Given the description of an element on the screen output the (x, y) to click on. 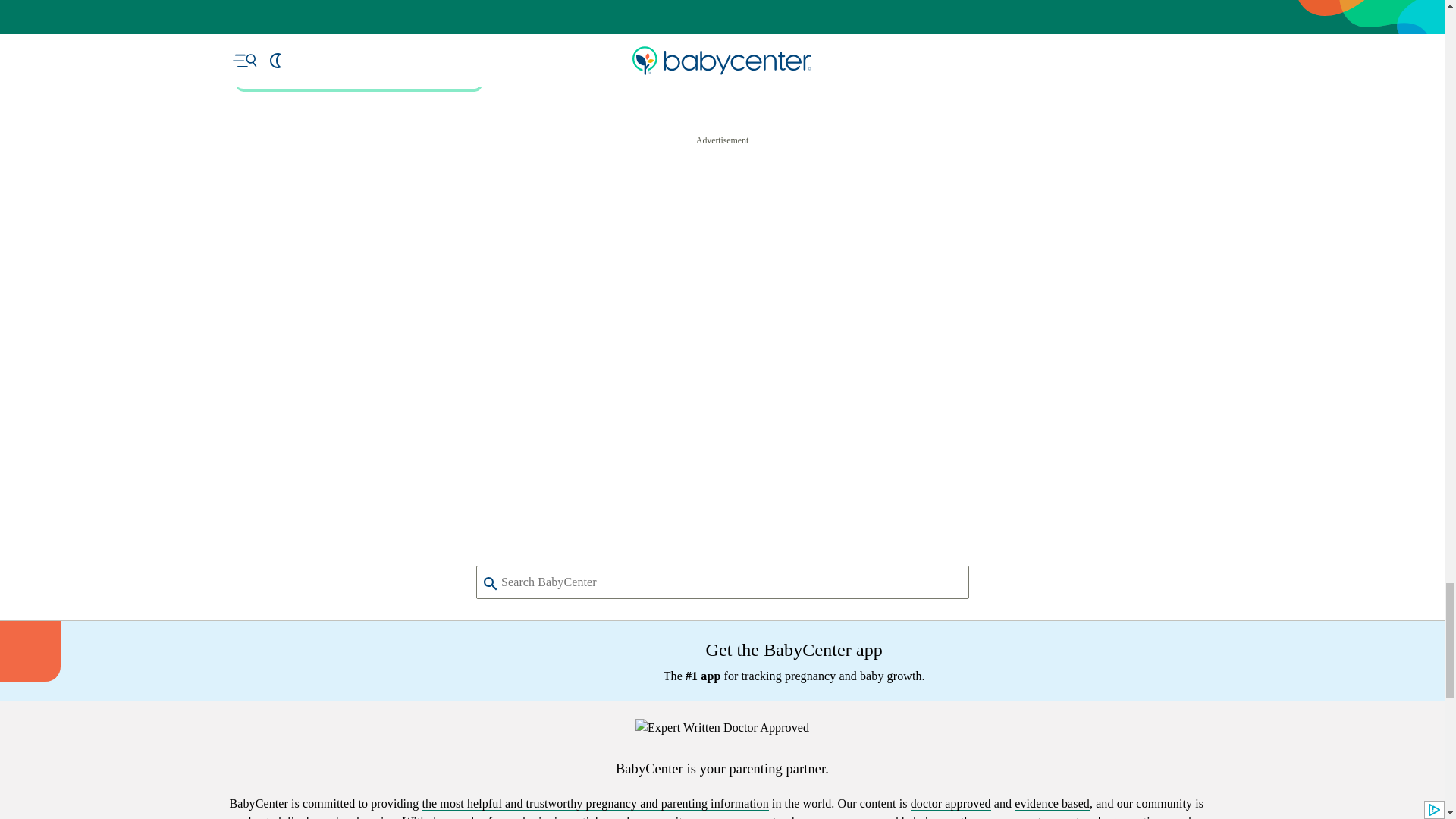
1 (541, 305)
Go to page number (541, 305)
